Given the description of an element on the screen output the (x, y) to click on. 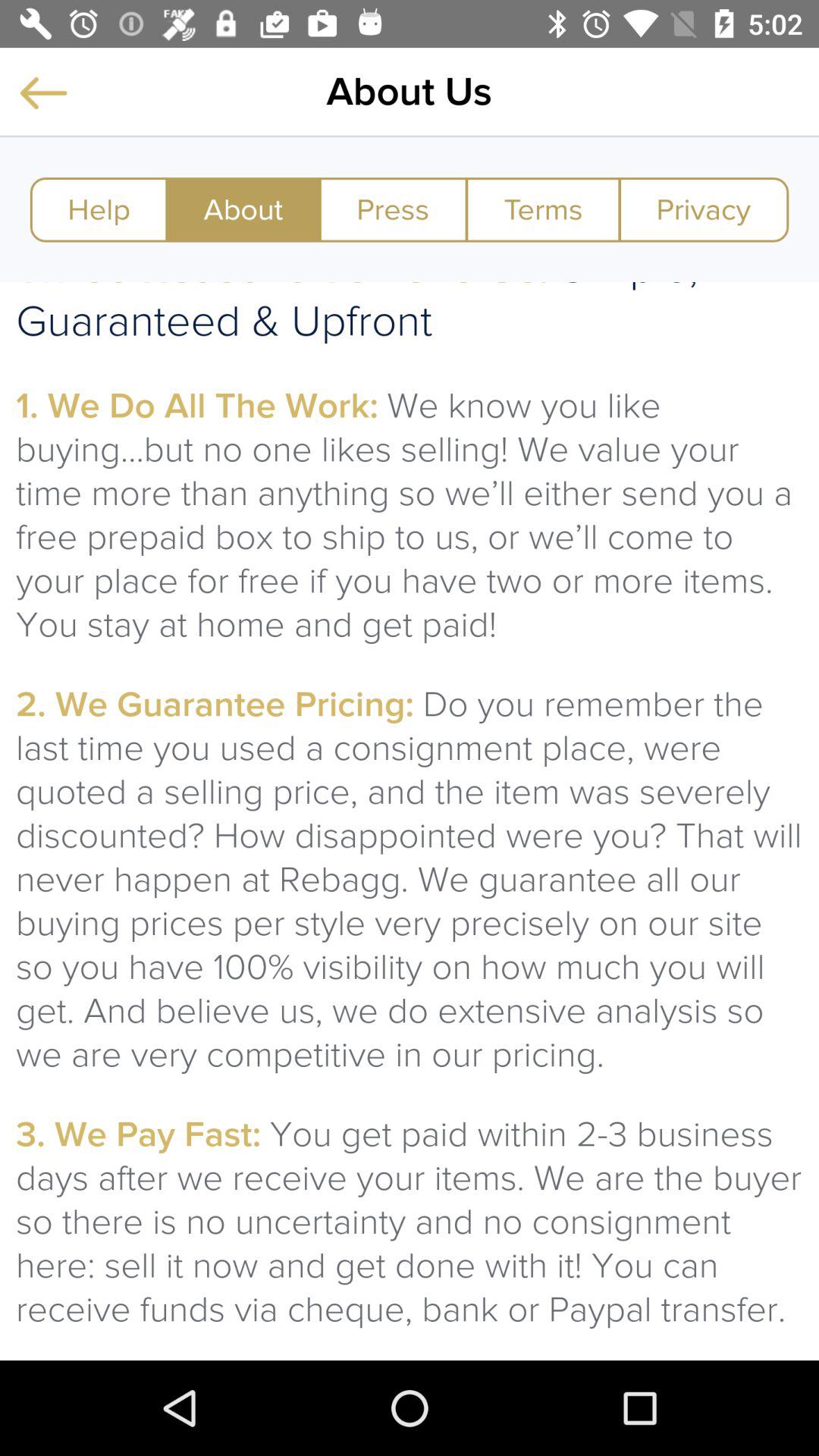
go to previous (43, 92)
